Given the description of an element on the screen output the (x, y) to click on. 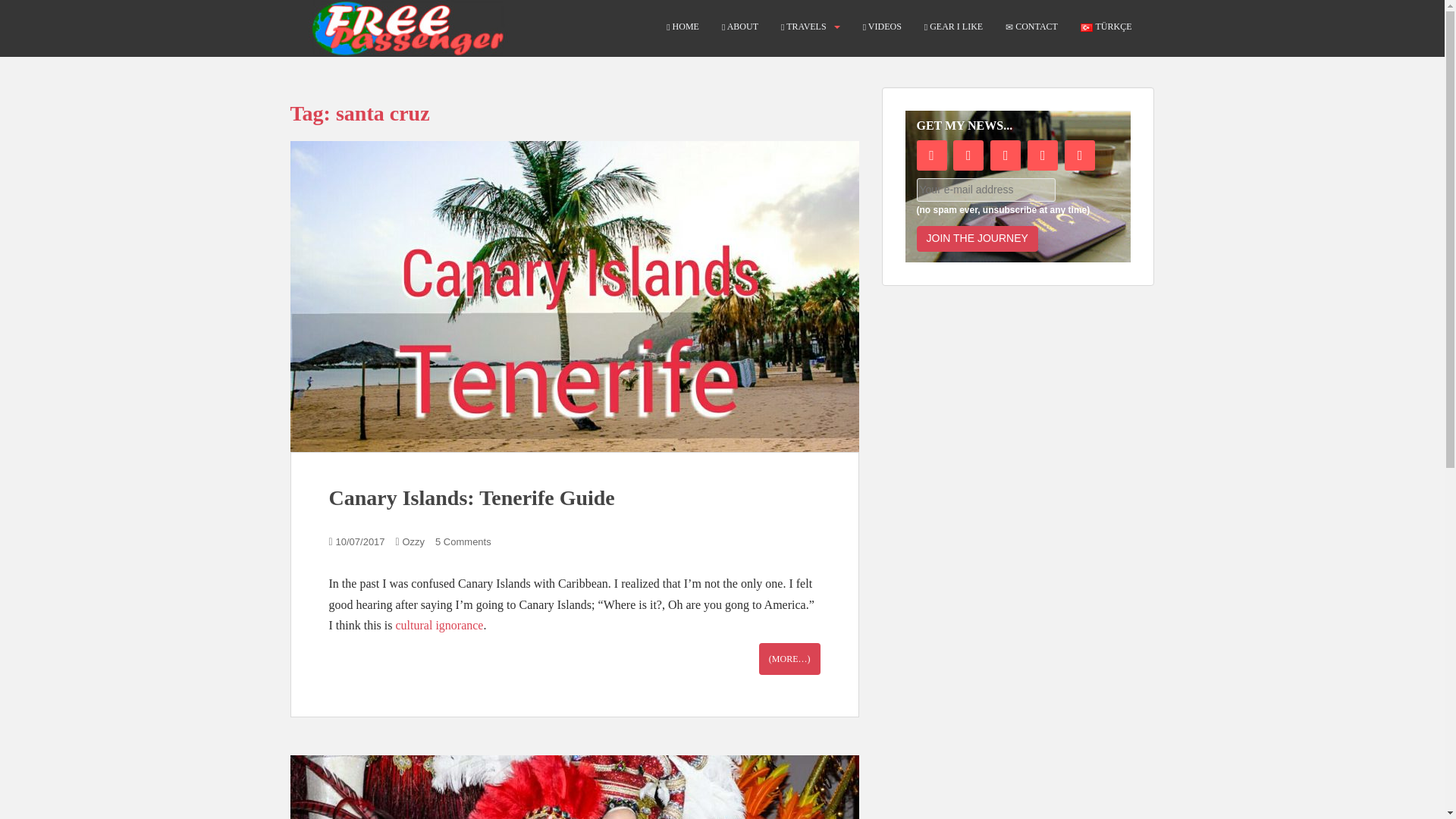
Join The Journey (975, 238)
Travels (803, 26)
Canary Islands: Tenerife Guide (471, 497)
 CONTACT (1032, 26)
Gear I like (953, 26)
About (740, 26)
Contact (1032, 26)
Home (682, 26)
5 Comments (463, 541)
